Given the description of an element on the screen output the (x, y) to click on. 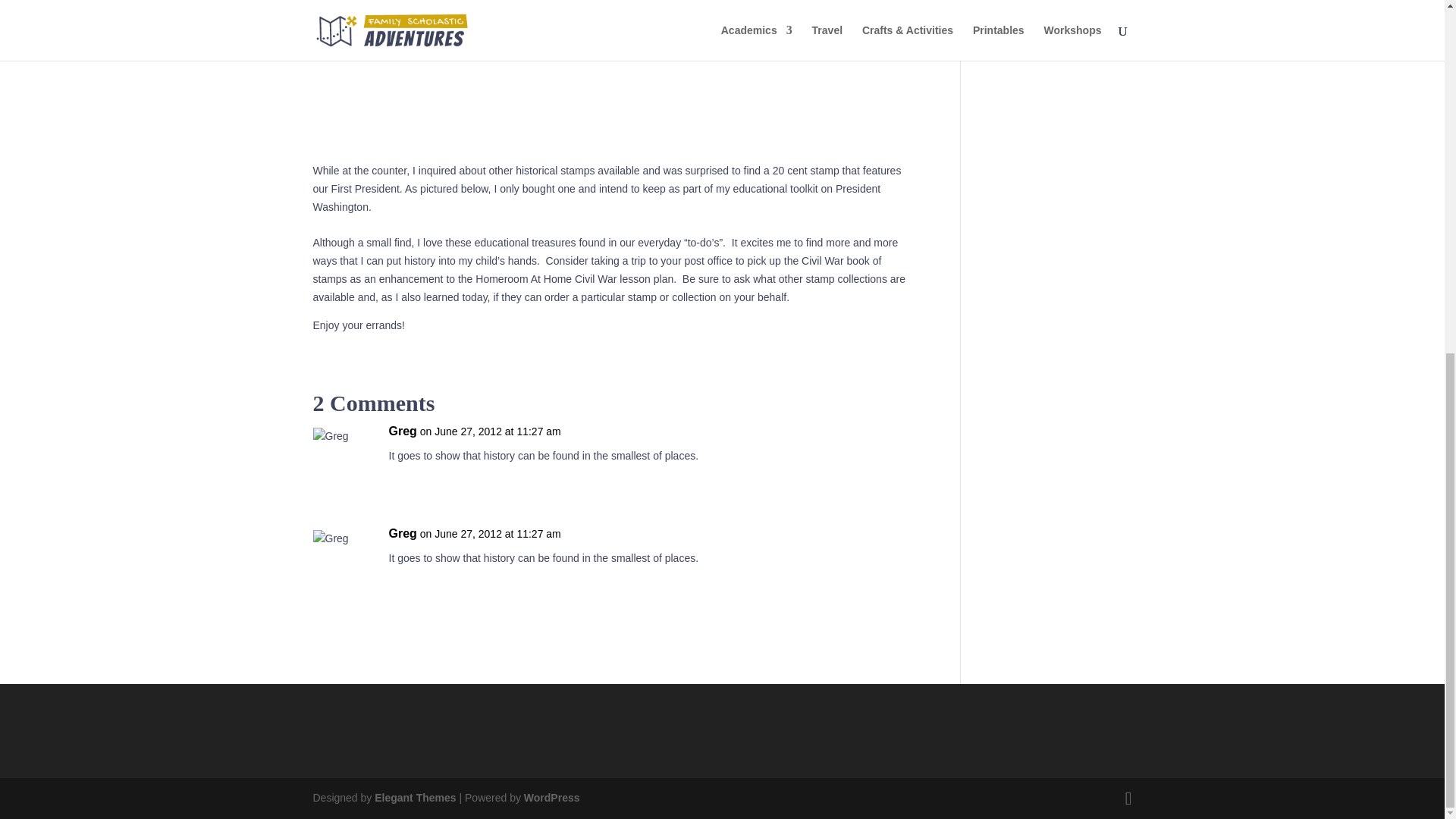
WordPress (551, 797)
Elegant Themes (414, 797)
Premium WordPress Themes (414, 797)
